Given the description of an element on the screen output the (x, y) to click on. 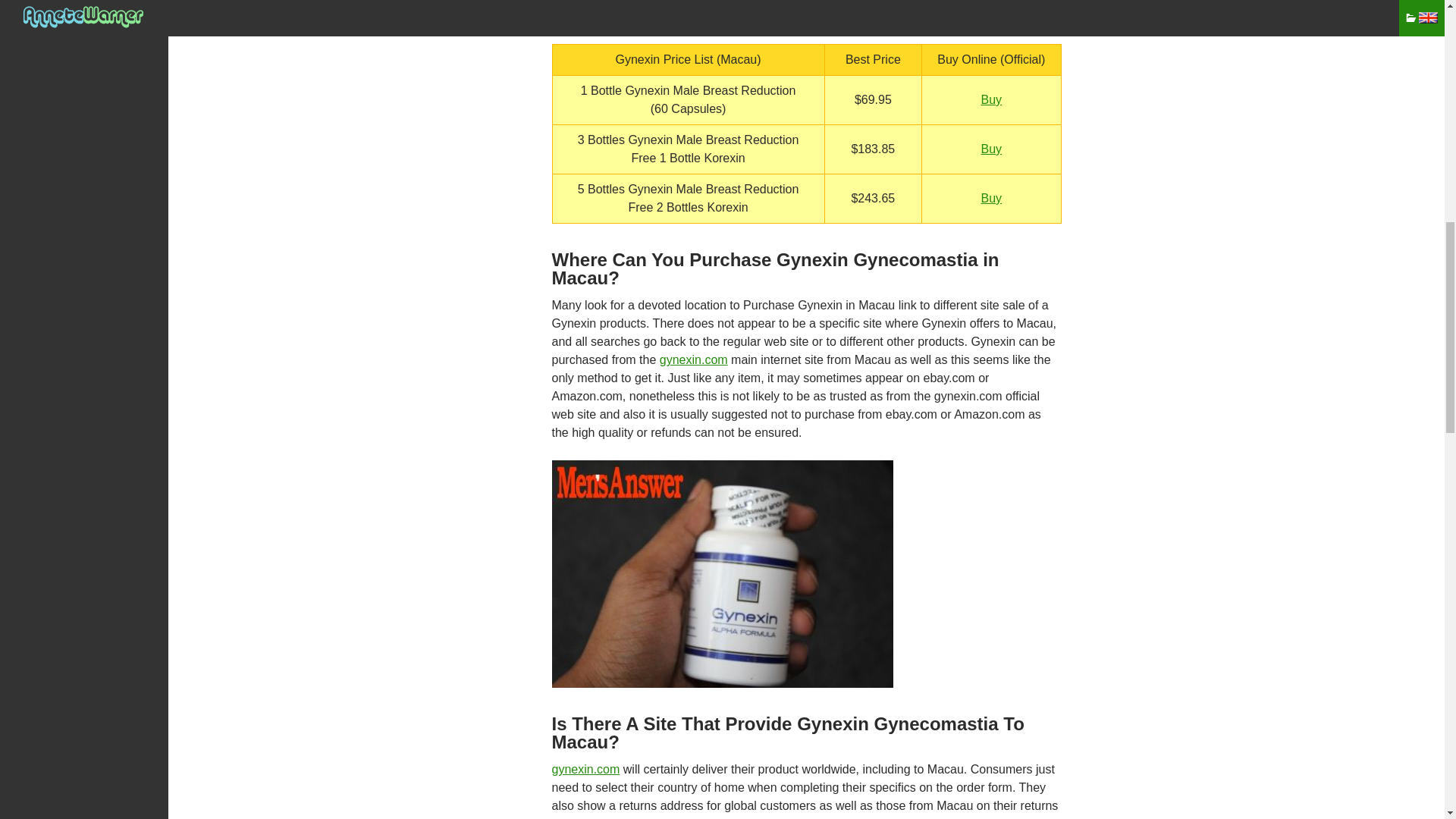
Purchase Gynexin in Macau (722, 573)
